Given the description of an element on the screen output the (x, y) to click on. 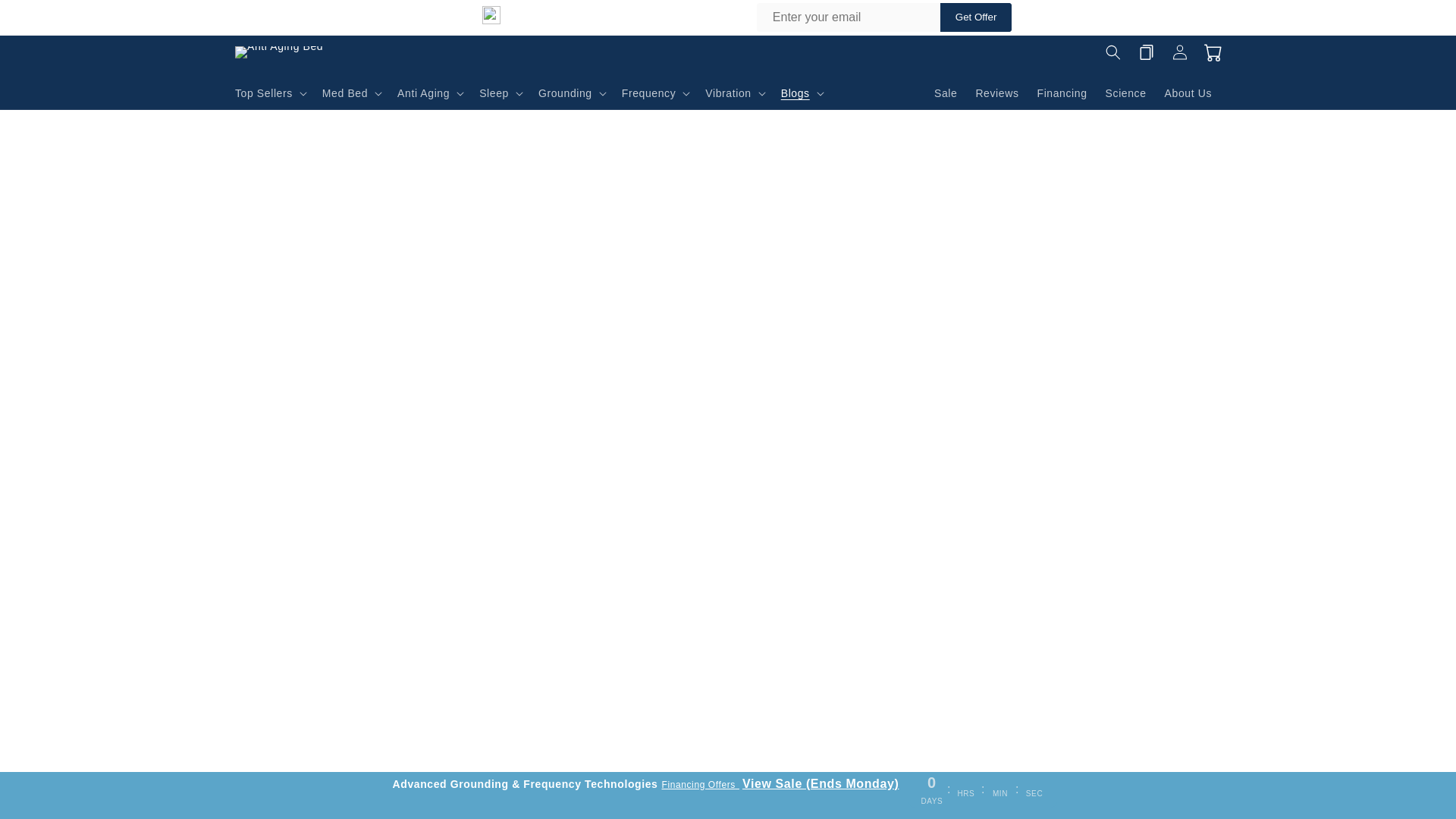
Skip to content (45, 17)
Get Offer (975, 17)
